Given the description of an element on the screen output the (x, y) to click on. 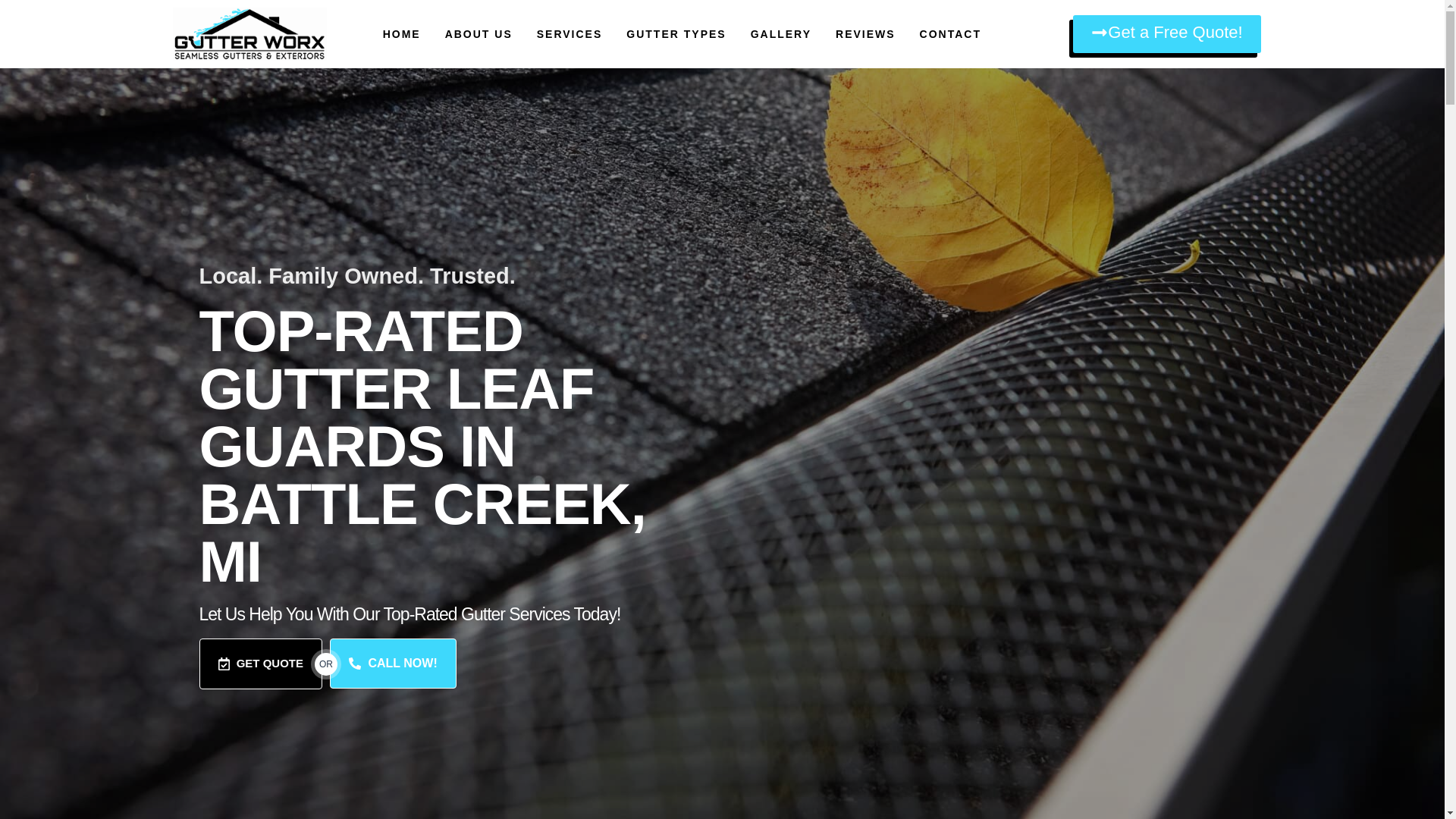
GET QUOTE (259, 663)
ABOUT US (478, 33)
HOME (401, 33)
CALL NOW! (393, 663)
GUTTER TYPES (675, 33)
GALLERY (780, 33)
SERVICES (569, 33)
REVIEWS (865, 33)
Get a Free Quote! (1166, 34)
CONTACT (950, 33)
